Given the description of an element on the screen output the (x, y) to click on. 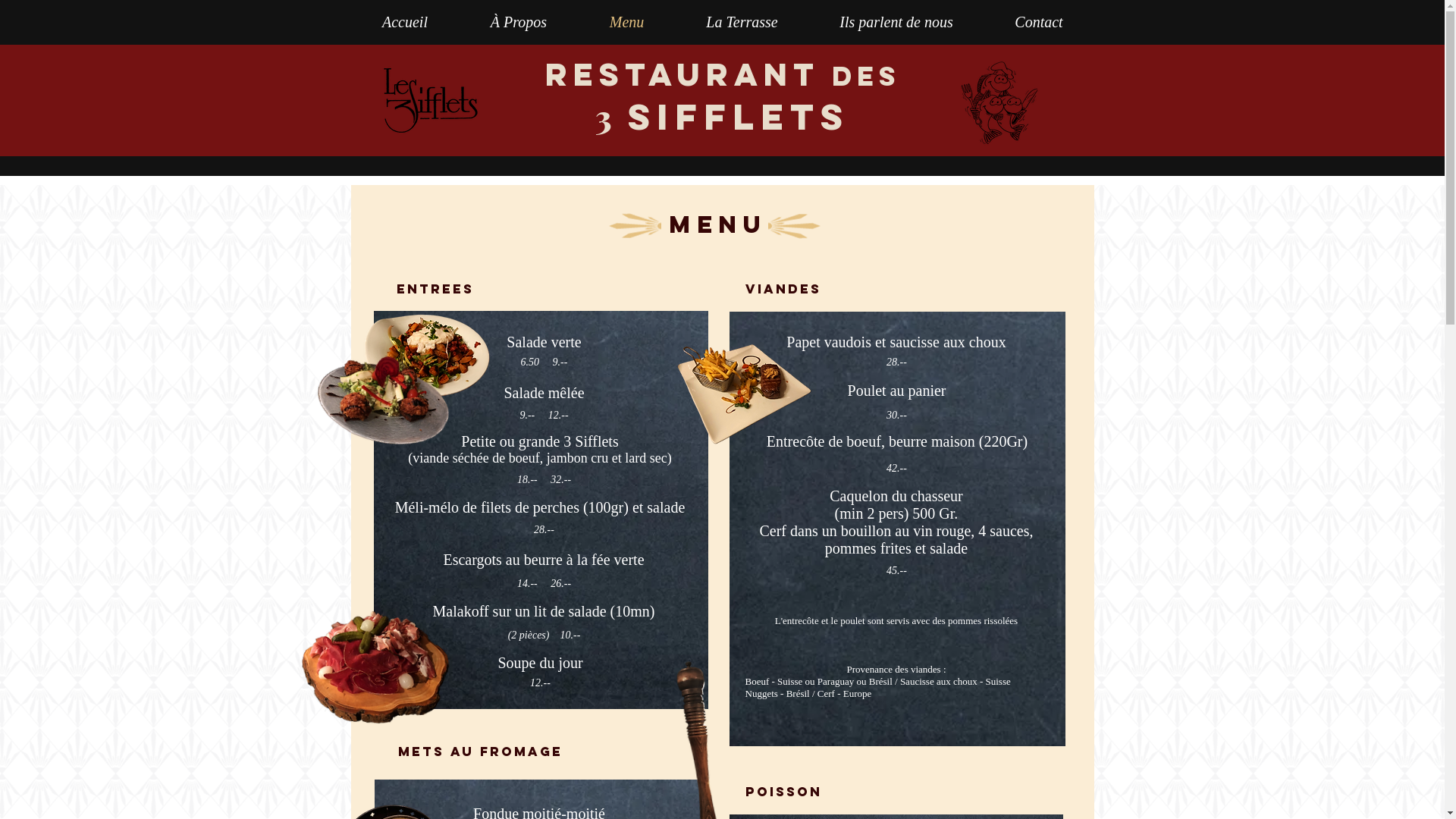
Contact Element type: text (1039, 21)
Restaurant des
3 Sifflets Element type: text (721, 95)
Ils parlent de nous Element type: text (895, 21)
Accueil Element type: text (404, 21)
Menu Element type: text (625, 21)
La Terrasse Element type: text (741, 21)
